Given the description of an element on the screen output the (x, y) to click on. 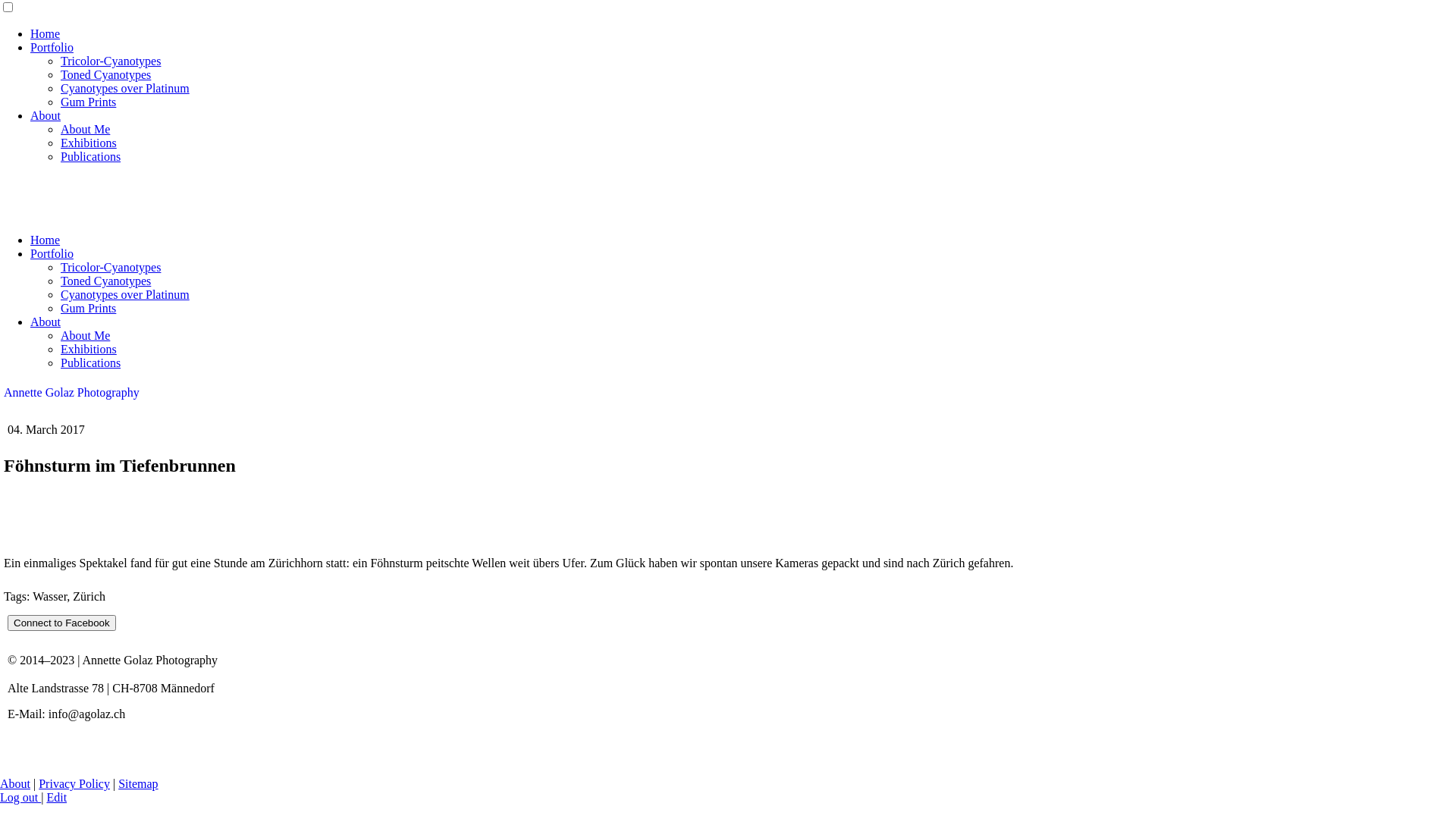
Edit Element type: text (56, 796)
Log out Element type: text (20, 796)
About Me Element type: text (84, 128)
Portfolio Element type: text (51, 253)
About Element type: text (15, 783)
Tricolor-Cyanotypes Element type: text (110, 266)
Publications Element type: text (90, 156)
Privacy Policy Element type: text (73, 783)
Gum Prints Element type: text (88, 307)
Home Element type: text (44, 33)
About Me Element type: text (84, 335)
Cyanotypes over Platinum Element type: text (124, 294)
Exhibitions Element type: text (88, 142)
Annette Golaz Photography Element type: text (71, 391)
Cyanotypes over Platinum Element type: text (124, 87)
Home Element type: text (44, 239)
Connect to Facebook Element type: text (61, 622)
Tricolor-Cyanotypes Element type: text (110, 60)
Toned Cyanotypes Element type: text (105, 74)
Toned Cyanotypes Element type: text (105, 280)
Gum Prints Element type: text (88, 101)
About Element type: text (45, 321)
Exhibitions Element type: text (88, 348)
Publications Element type: text (90, 362)
Portfolio Element type: text (51, 46)
About Element type: text (45, 115)
Sitemap Element type: text (137, 783)
